Given the description of an element on the screen output the (x, y) to click on. 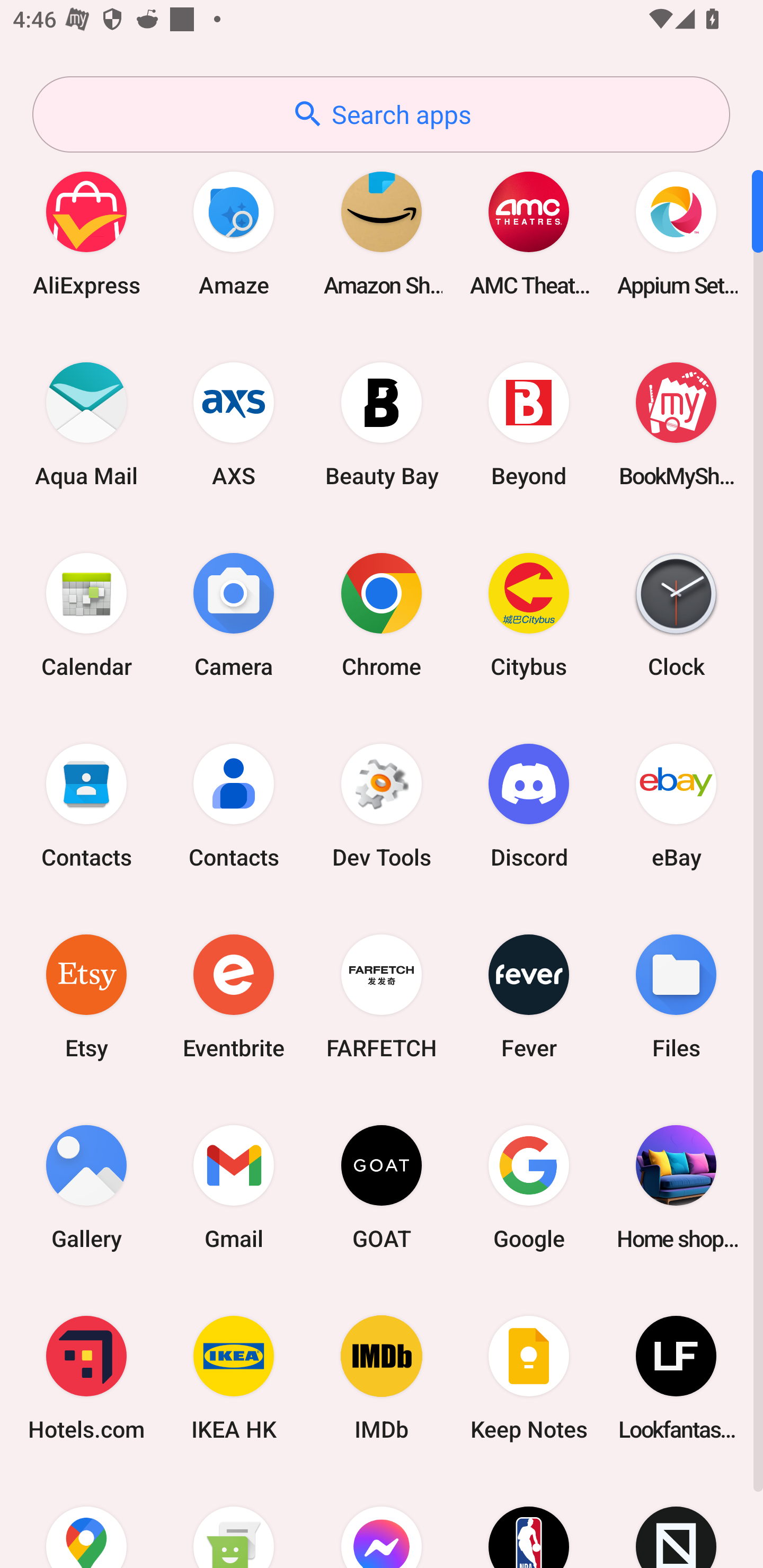
  Search apps (381, 114)
AliExpress (86, 233)
Amaze (233, 233)
Amazon Shopping (381, 233)
AMC Theatres (528, 233)
Appium Settings (676, 233)
Aqua Mail (86, 424)
AXS (233, 424)
Beauty Bay (381, 424)
Beyond (528, 424)
BookMyShow (676, 424)
Calendar (86, 614)
Camera (233, 614)
Chrome (381, 614)
Citybus (528, 614)
Clock (676, 614)
Contacts (86, 805)
Contacts (233, 805)
Dev Tools (381, 805)
Discord (528, 805)
eBay (676, 805)
Etsy (86, 996)
Eventbrite (233, 996)
FARFETCH (381, 996)
Fever (528, 996)
Files (676, 996)
Gallery (86, 1186)
Gmail (233, 1186)
GOAT (381, 1186)
Google (528, 1186)
Home shopping (676, 1186)
Hotels.com (86, 1377)
IKEA HK (233, 1377)
IMDb (381, 1377)
Keep Notes (528, 1377)
Lookfantastic (676, 1377)
